Given the description of an element on the screen output the (x, y) to click on. 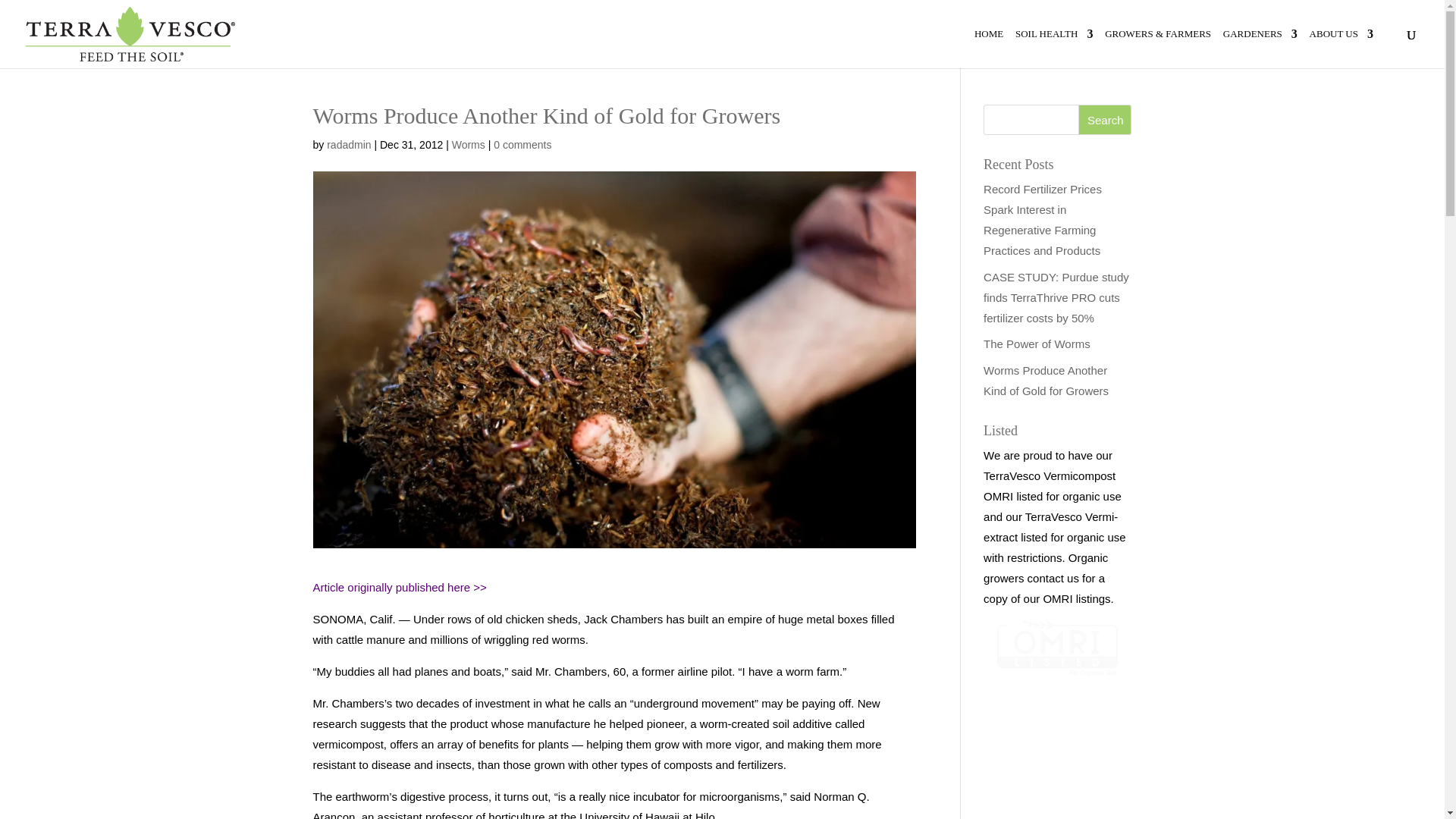
radadmin (348, 144)
The Power of Worms (1037, 343)
Search (1104, 119)
GARDENERS (1260, 47)
Worms (467, 144)
0 comments (522, 144)
SOIL HEALTH (1053, 47)
Search (1104, 119)
Worms Produce Another Kind of Gold for Growers (1046, 380)
